Given the description of an element on the screen output the (x, y) to click on. 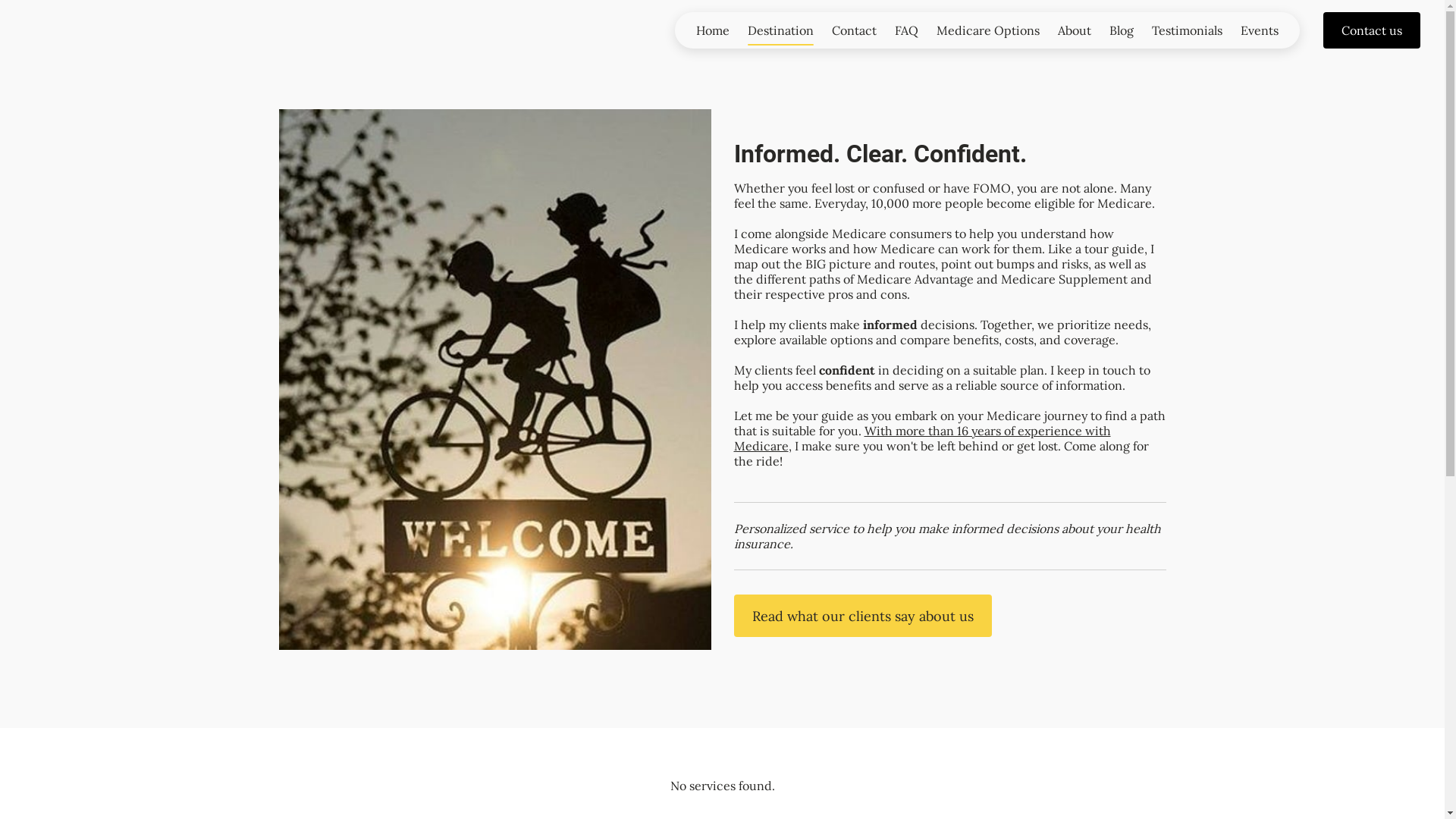
Events Element type: text (1259, 30)
Medicare Options Element type: text (987, 30)
FAQ Element type: text (906, 30)
About Element type: text (1074, 30)
Contact us Element type: text (1371, 30)
Destination Element type: text (780, 30)
Blog Element type: text (1121, 30)
With more than 16 years of experience with Medicare Element type: text (922, 438)
Testimonials Element type: text (1186, 30)
Contact Element type: text (853, 30)
Read what our clients say about us Element type: text (862, 615)
Home Element type: text (712, 30)
